Given the description of an element on the screen output the (x, y) to click on. 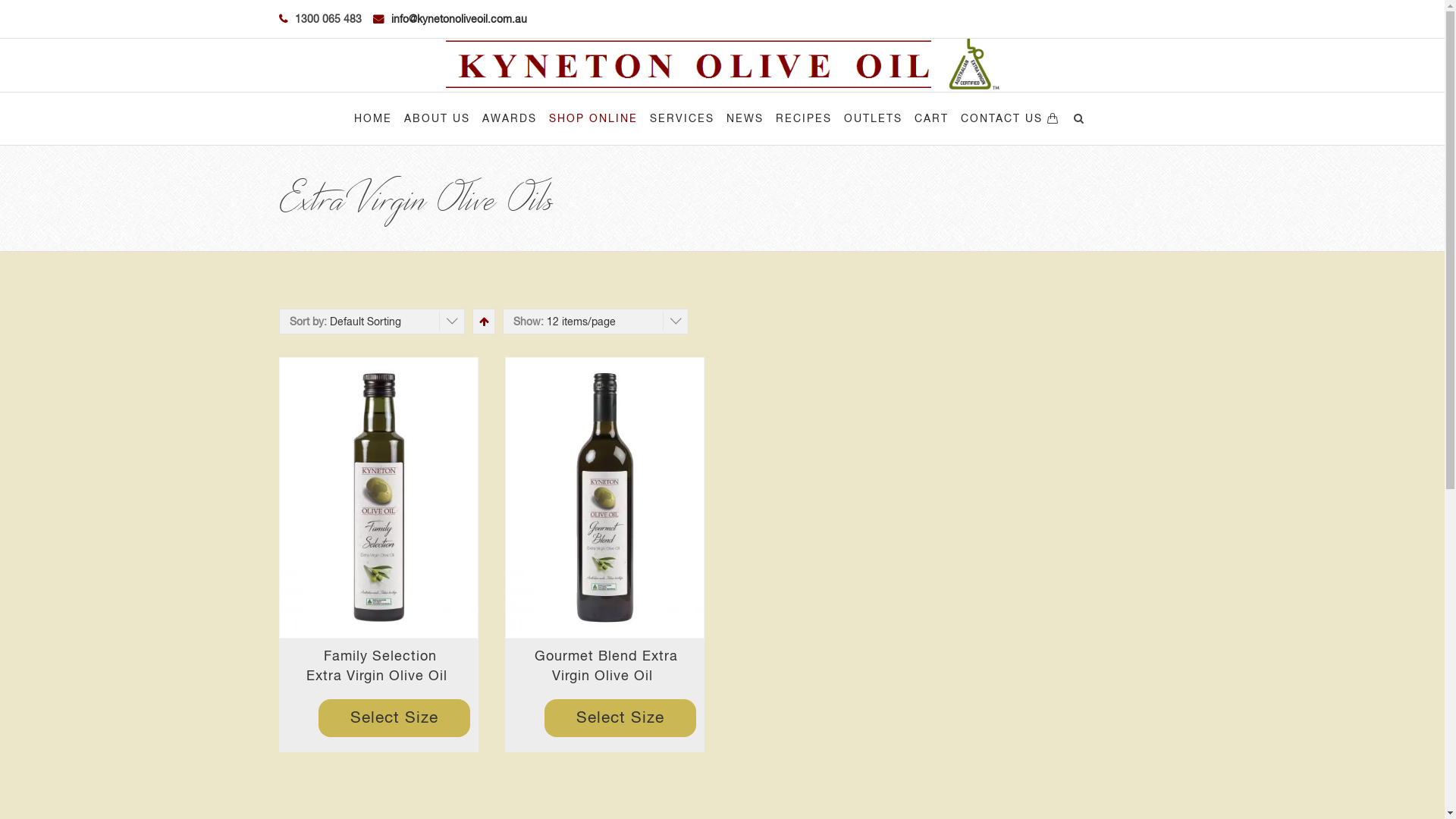
Products descending Element type: hover (482, 321)
RECIPES Element type: text (802, 117)
Gourmet Blend Extra Virgin Olive Oil Element type: text (603, 665)
Family Selection Extra Virgin Olive Oil Element type: hover (377, 497)
ABOUT US Element type: text (435, 117)
Gourmet Blend Extra Virgin Olive Oil Element type: hover (604, 497)
Kyneton Olive Oil - Home of award winning olive oil products Element type: hover (722, 64)
OUTLETS Element type: text (872, 117)
SHOP ONLINE Element type: text (593, 117)
AWARDS Element type: text (509, 117)
SERVICES Element type: text (681, 117)
CART Element type: text (931, 117)
NEWS Element type: text (744, 117)
HOME Element type: text (371, 117)
Family Selection Extra Virgin Olive Oil Element type: text (378, 665)
info@kynetonoliveoil.com.au Element type: text (459, 18)
CONTACT US Element type: text (1000, 117)
